Given the description of an element on the screen output the (x, y) to click on. 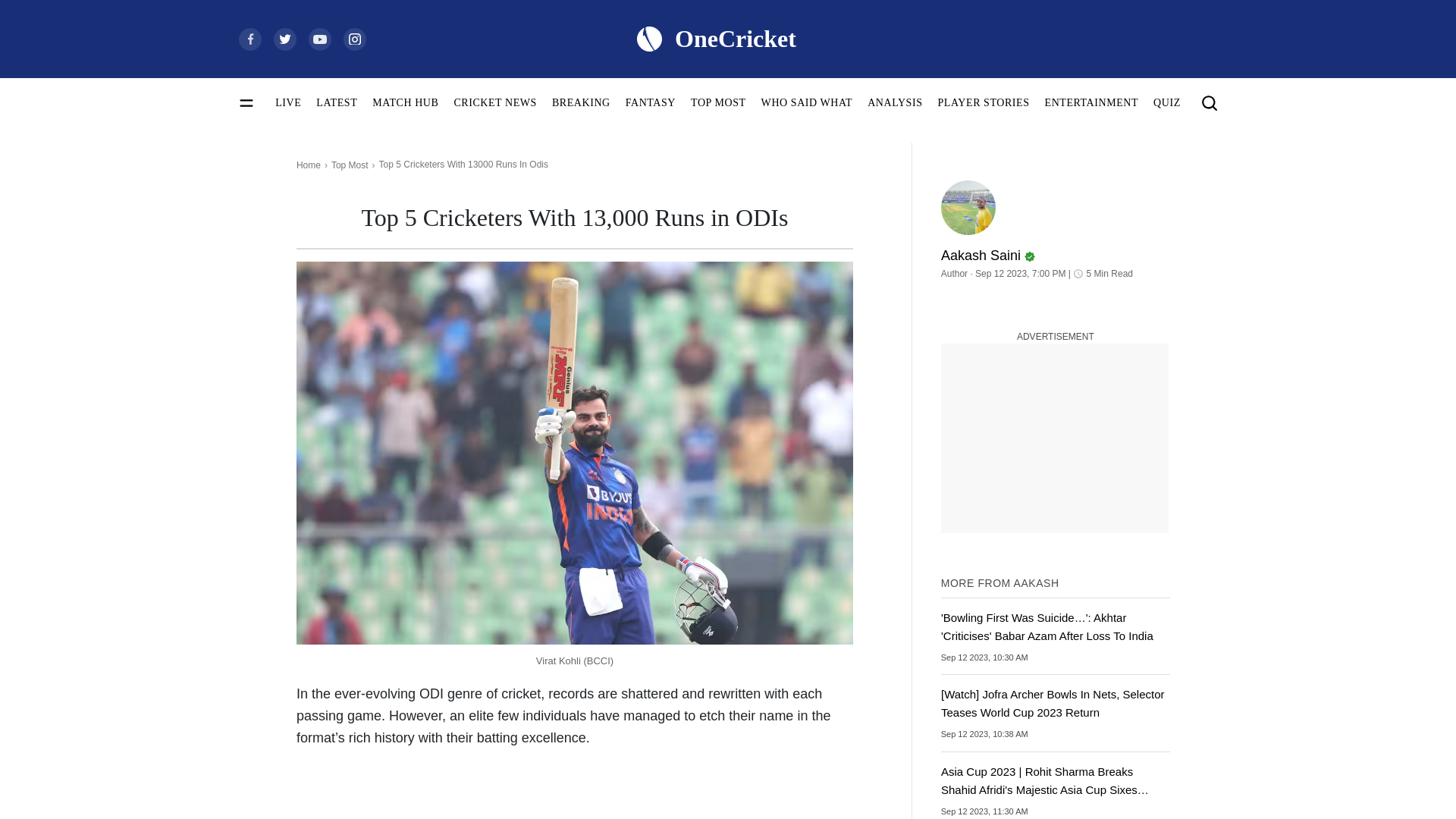
LATEST (335, 102)
ANALYSIS (894, 102)
Aakash Saini (1055, 249)
CRICKET NEWS (494, 102)
WHO SAID WHAT (807, 102)
ENTERTAINMENT (1091, 102)
Aakash Saini (967, 207)
MATCH HUB (405, 102)
TOP MOST (717, 102)
Top Most (349, 164)
